Given the description of an element on the screen output the (x, y) to click on. 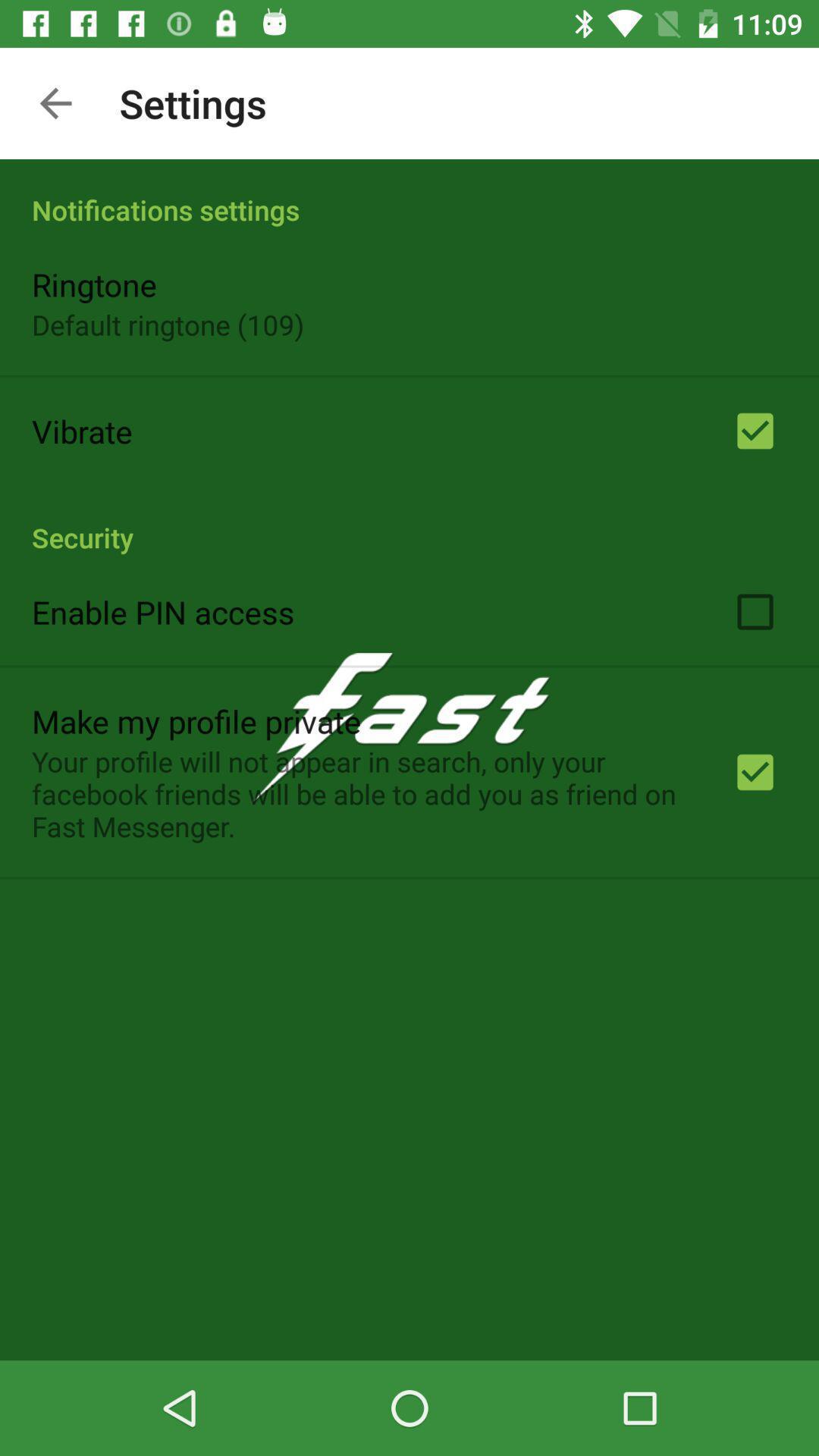
swipe until enable pin access (162, 611)
